Given the description of an element on the screen output the (x, y) to click on. 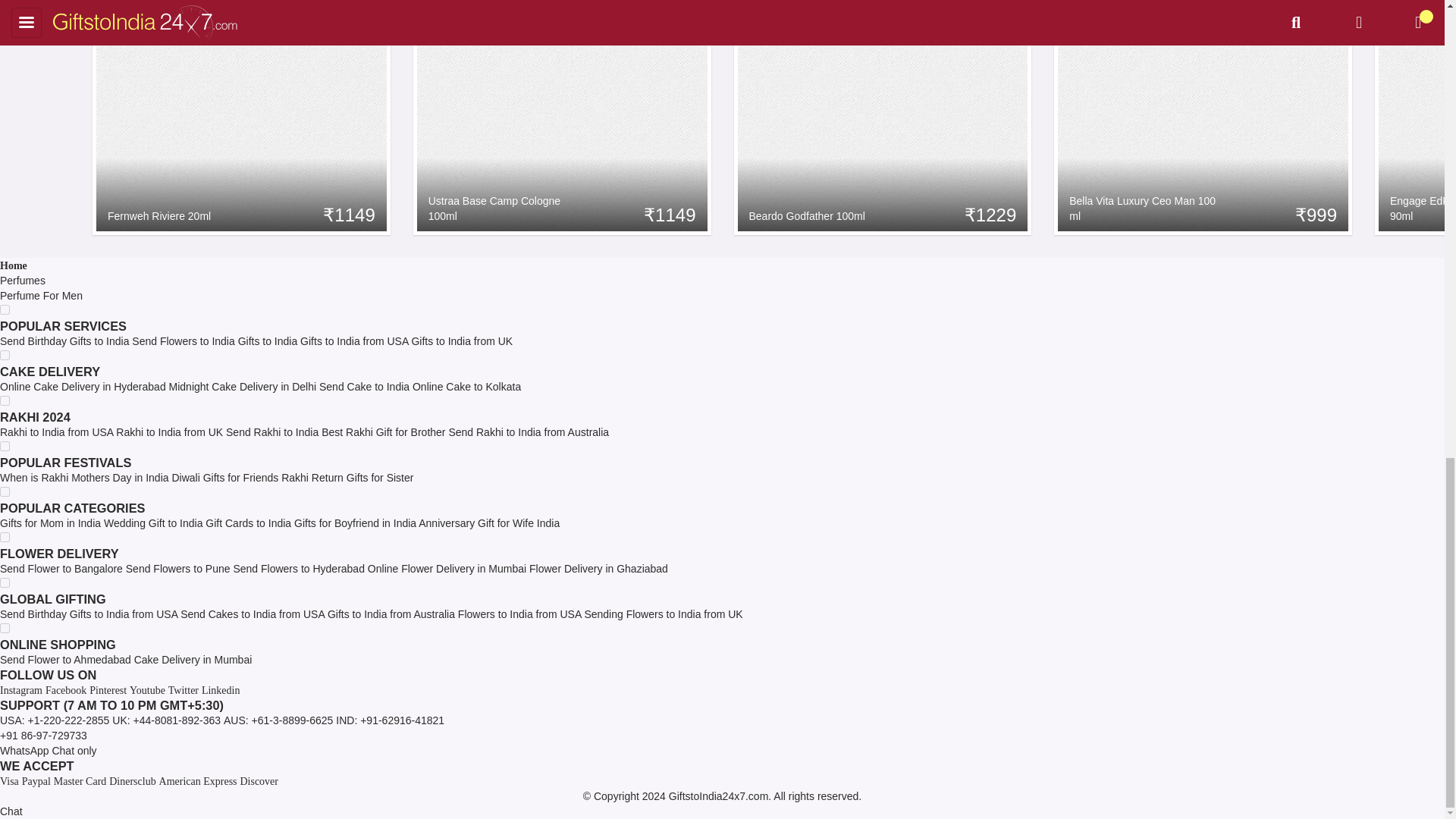
on (5, 583)
on (5, 446)
on (5, 537)
on (5, 628)
on (5, 491)
on (5, 355)
on (5, 309)
on (5, 400)
